Given the description of an element on the screen output the (x, y) to click on. 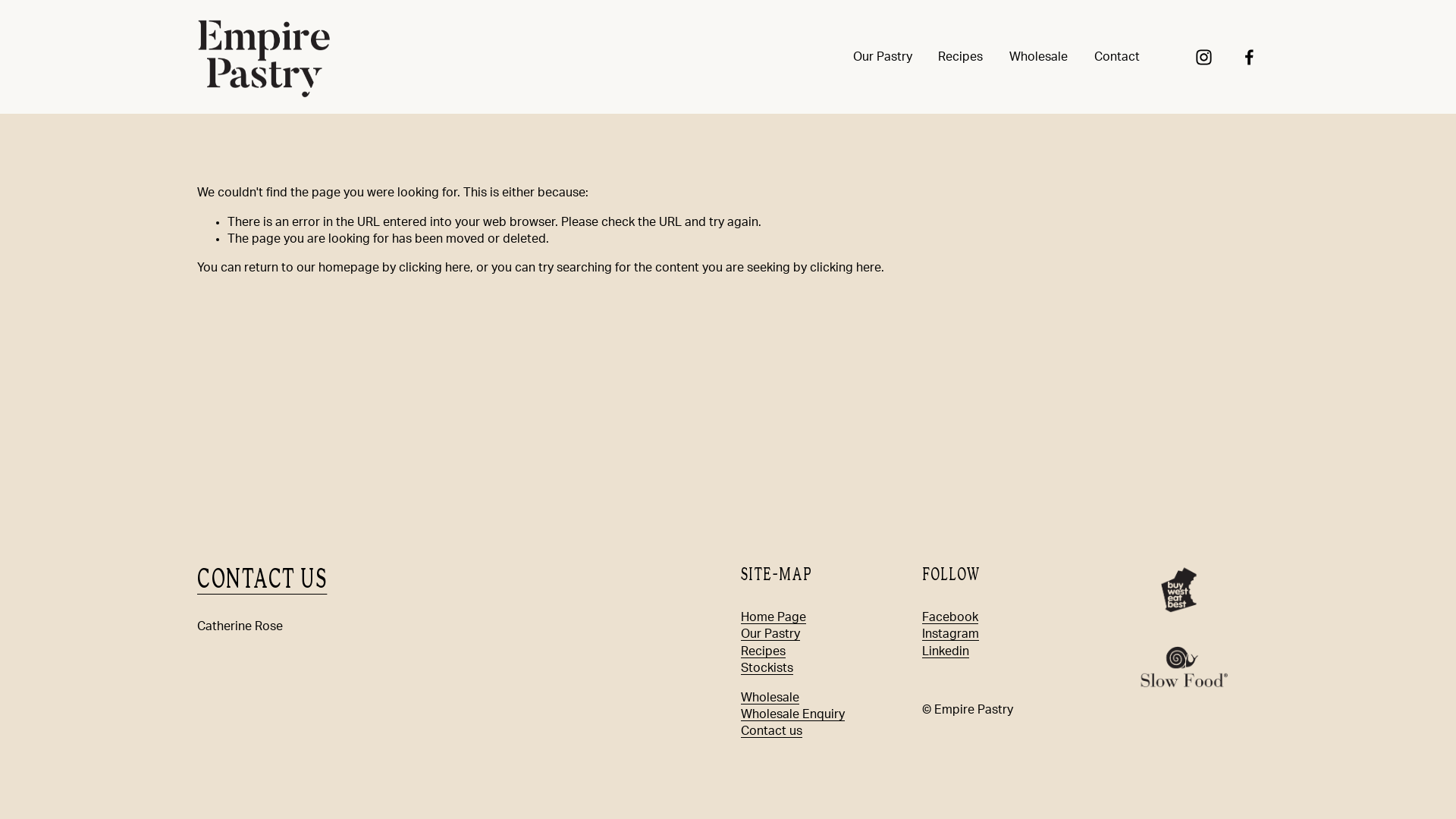
Linkedin Element type: text (945, 651)
Contact us Element type: text (771, 730)
clicking here Element type: text (845, 267)
Wholesale Element type: text (769, 697)
clicking here Element type: text (434, 267)
Instagram Element type: text (950, 633)
Our Pastry Element type: text (770, 633)
Recipes Element type: text (762, 651)
Wholesale Element type: text (1038, 56)
Home Page Element type: text (773, 616)
Our Pastry Element type: text (882, 56)
CONTACT US Element type: text (261, 578)
Contact Element type: text (1116, 56)
Facebook Element type: text (950, 616)
Recipes Element type: text (960, 56)
Stockists Element type: text (766, 667)
Wholesale Enquiry Element type: text (792, 714)
